Given the description of an element on the screen output the (x, y) to click on. 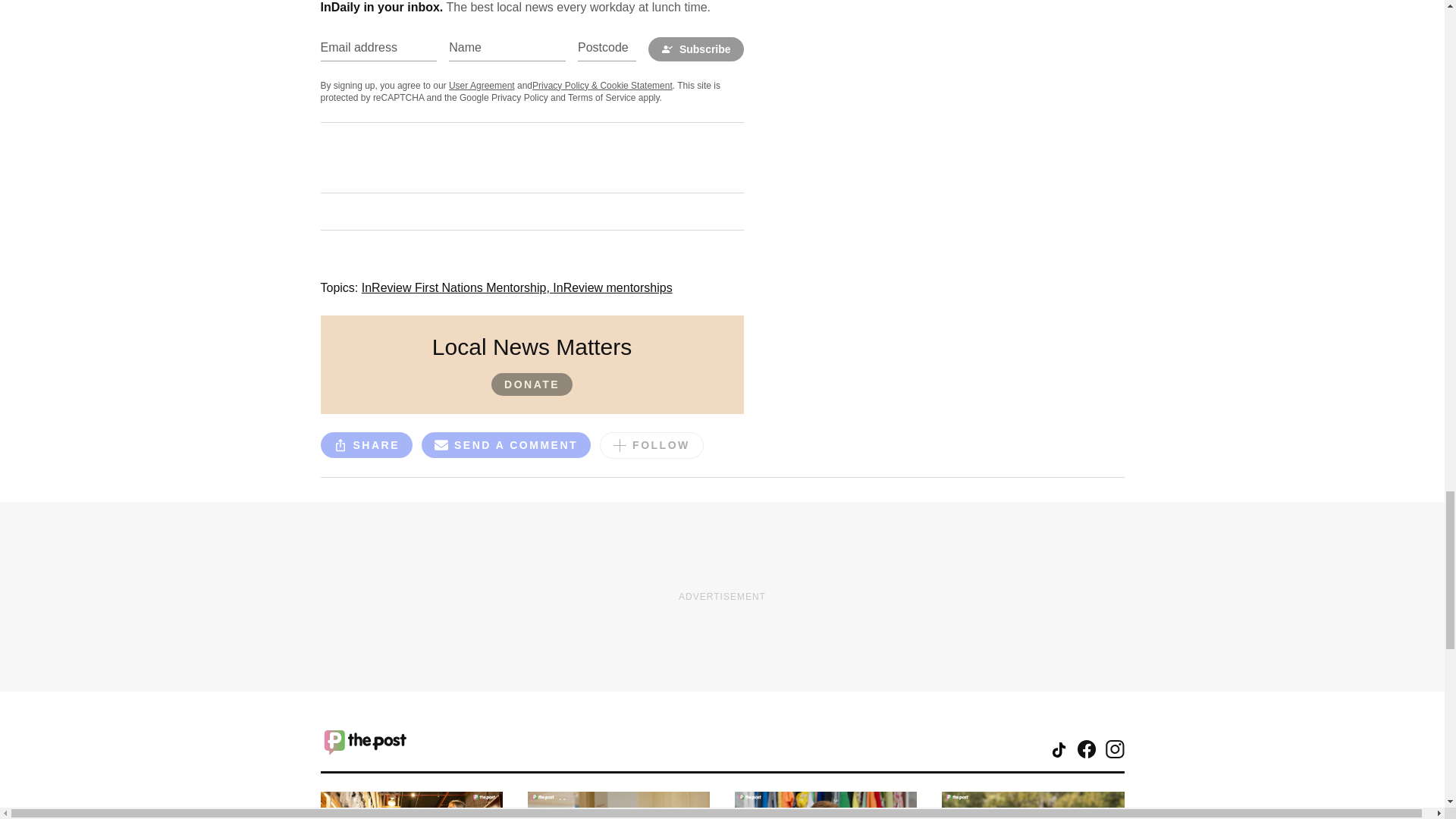
SEND A COMMENT (506, 444)
InReview mentorships (612, 287)
Subscribe (695, 48)
SEND A COMMENT (506, 447)
DONATE (532, 384)
InReview First Nations Mentorship, (457, 287)
SHARE (366, 444)
FOLLOW (651, 445)
User Agreement (481, 85)
